Given the description of an element on the screen output the (x, y) to click on. 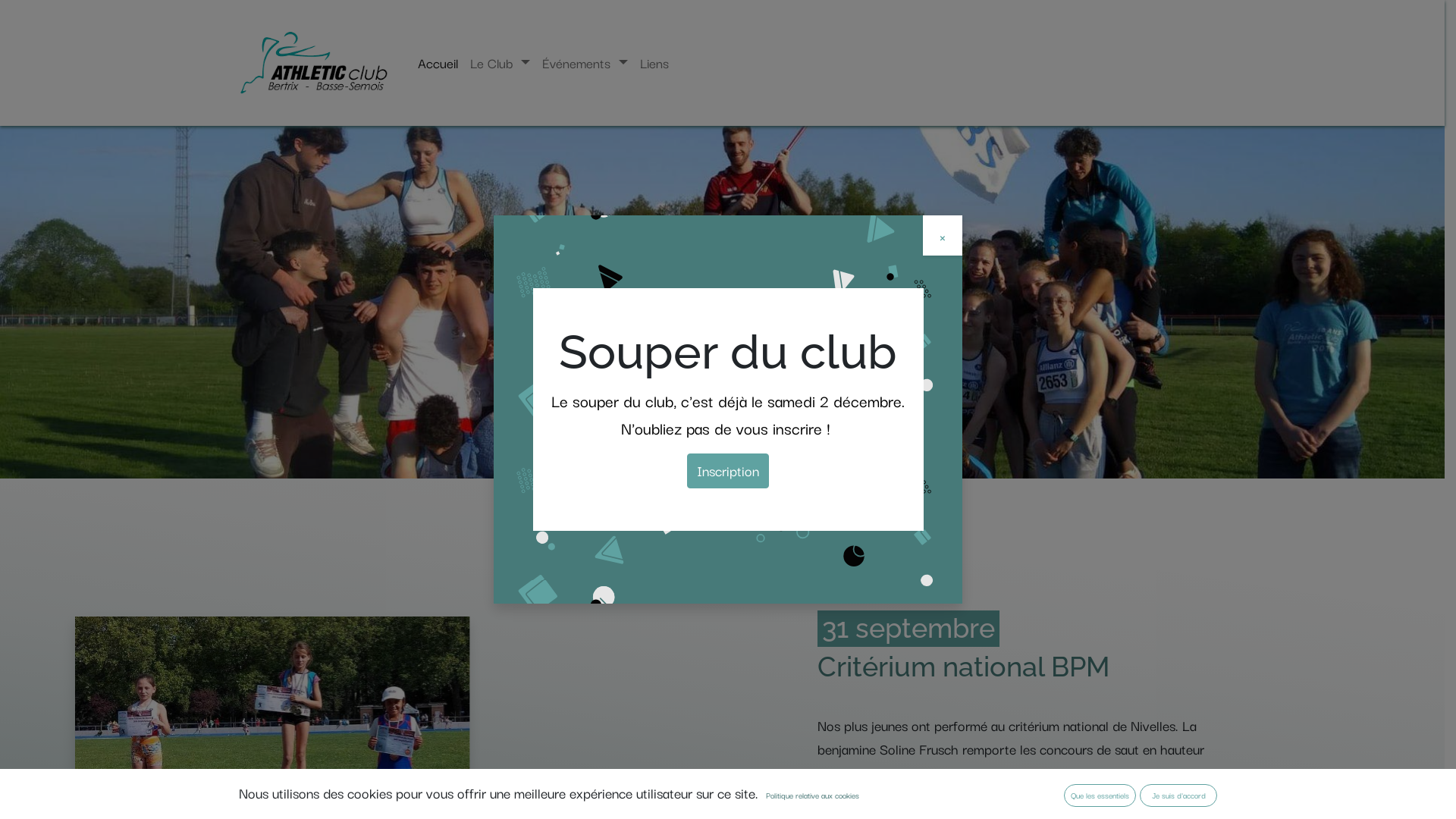
Le Club Element type: text (500, 62)
Nous contacter Element type: text (721, 432)
Accueil Element type: text (437, 62)
Je suis d'accord Element type: text (1178, 795)
Liens Element type: text (653, 62)
Que les essentiels Element type: text (1099, 795)
Politique relative aux cookies Element type: text (812, 795)
acbbs Element type: hover (313, 62)
